Given the description of an element on the screen output the (x, y) to click on. 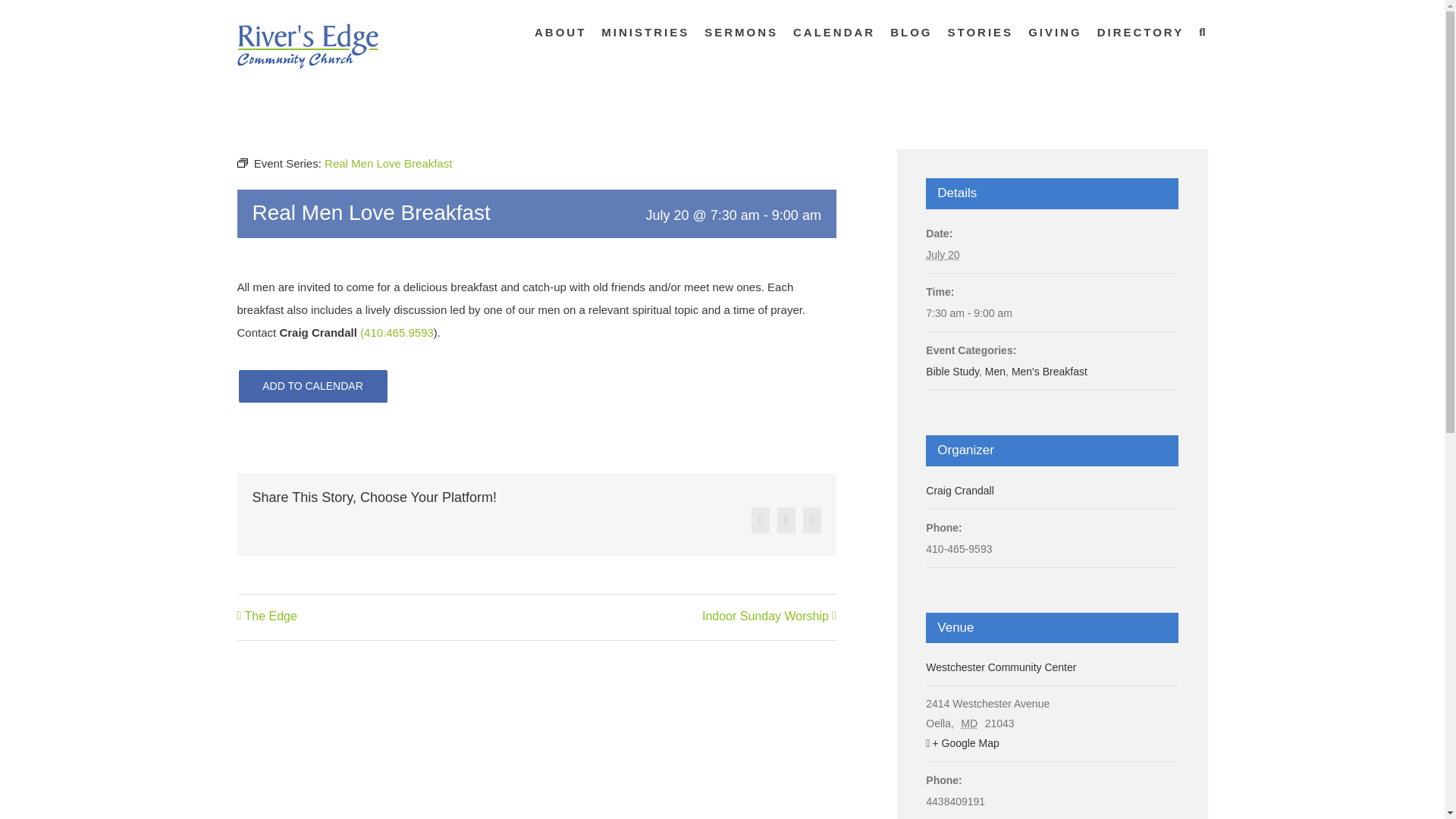
Click to view a Google Map (1051, 743)
2024-07-20 (1051, 312)
SERMONS (740, 31)
STORIES (980, 31)
2024-07-20 (942, 254)
CALENDAR (834, 31)
Craig Crandall (959, 490)
Maryland (970, 723)
Event Series (241, 162)
MINISTRIES (644, 31)
DIRECTORY (1141, 31)
